Given the description of an element on the screen output the (x, y) to click on. 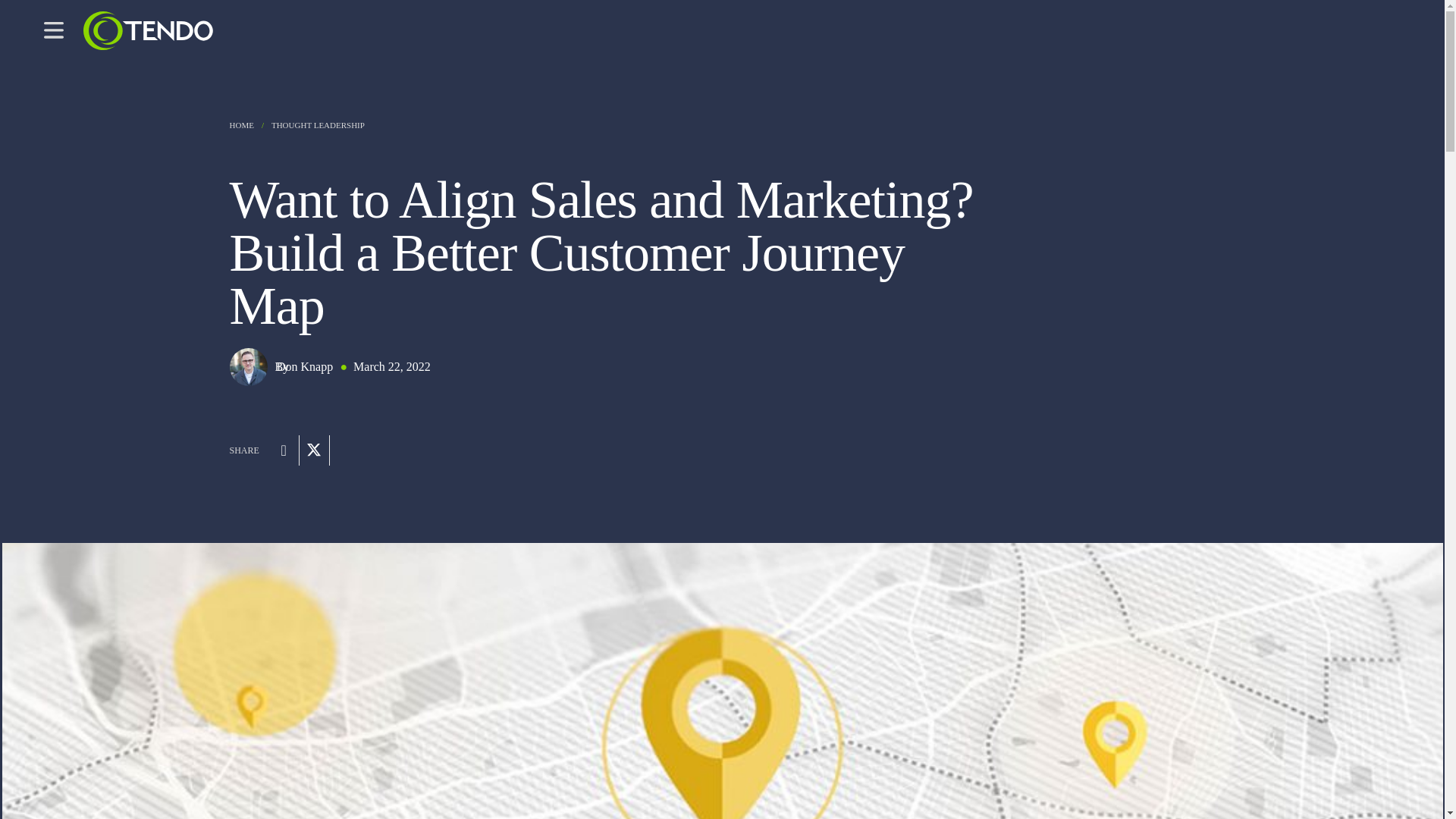
HOME (240, 124)
THOUGHT LEADERSHIP (317, 124)
Tweet this (314, 450)
Share this (284, 450)
